Given the description of an element on the screen output the (x, y) to click on. 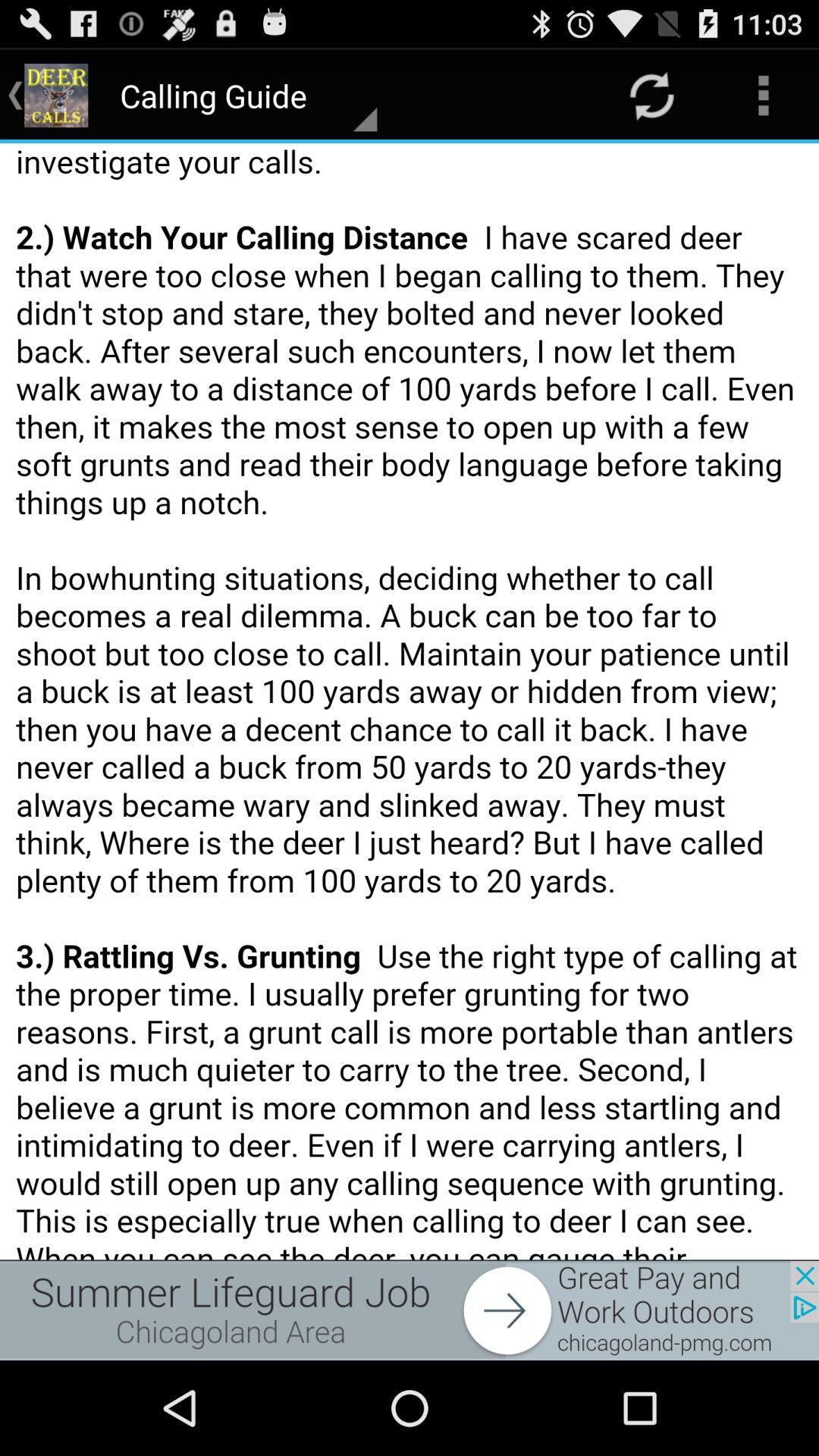
colour pinter (409, 701)
